Given the description of an element on the screen output the (x, y) to click on. 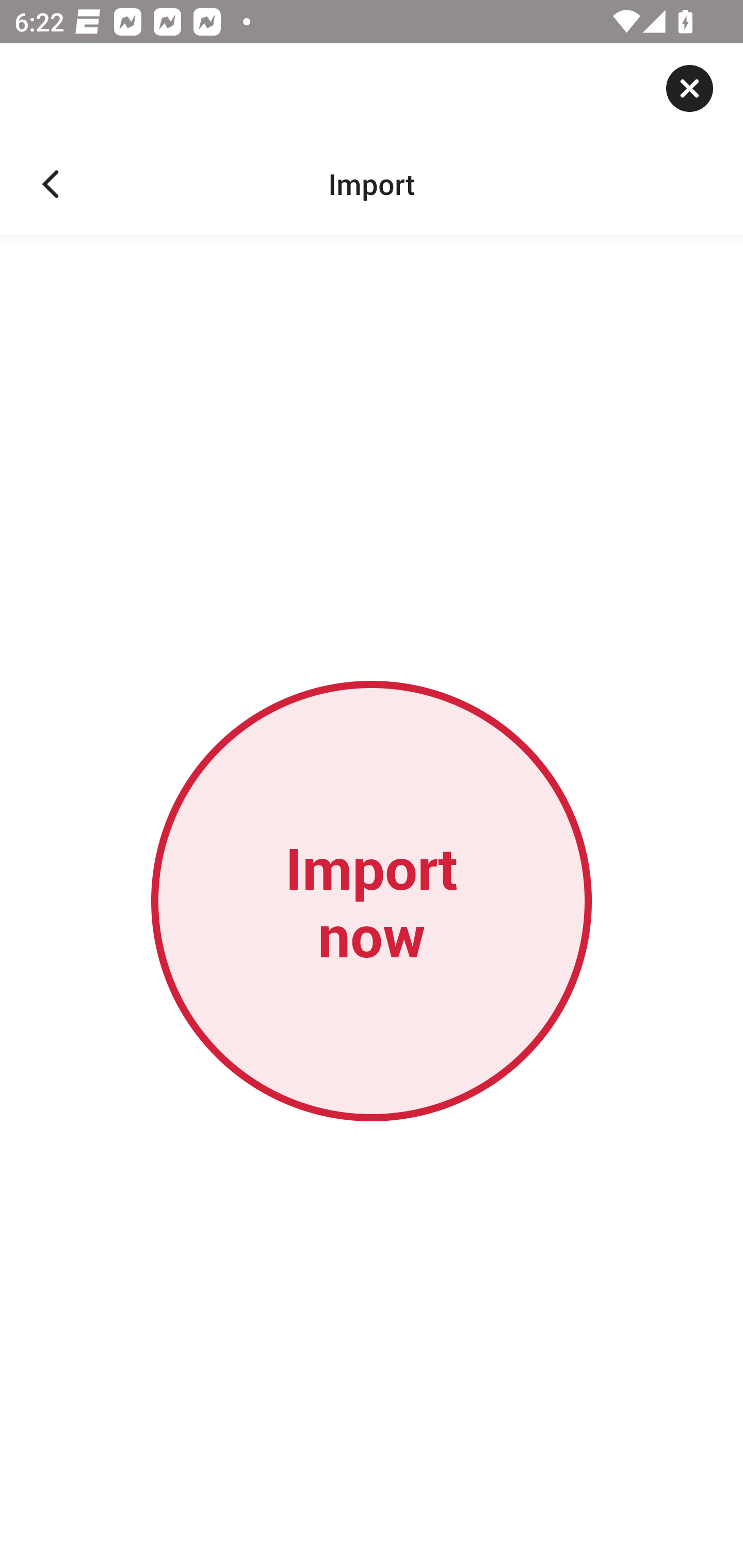
Navigate up (50, 184)
